Given the description of an element on the screen output the (x, y) to click on. 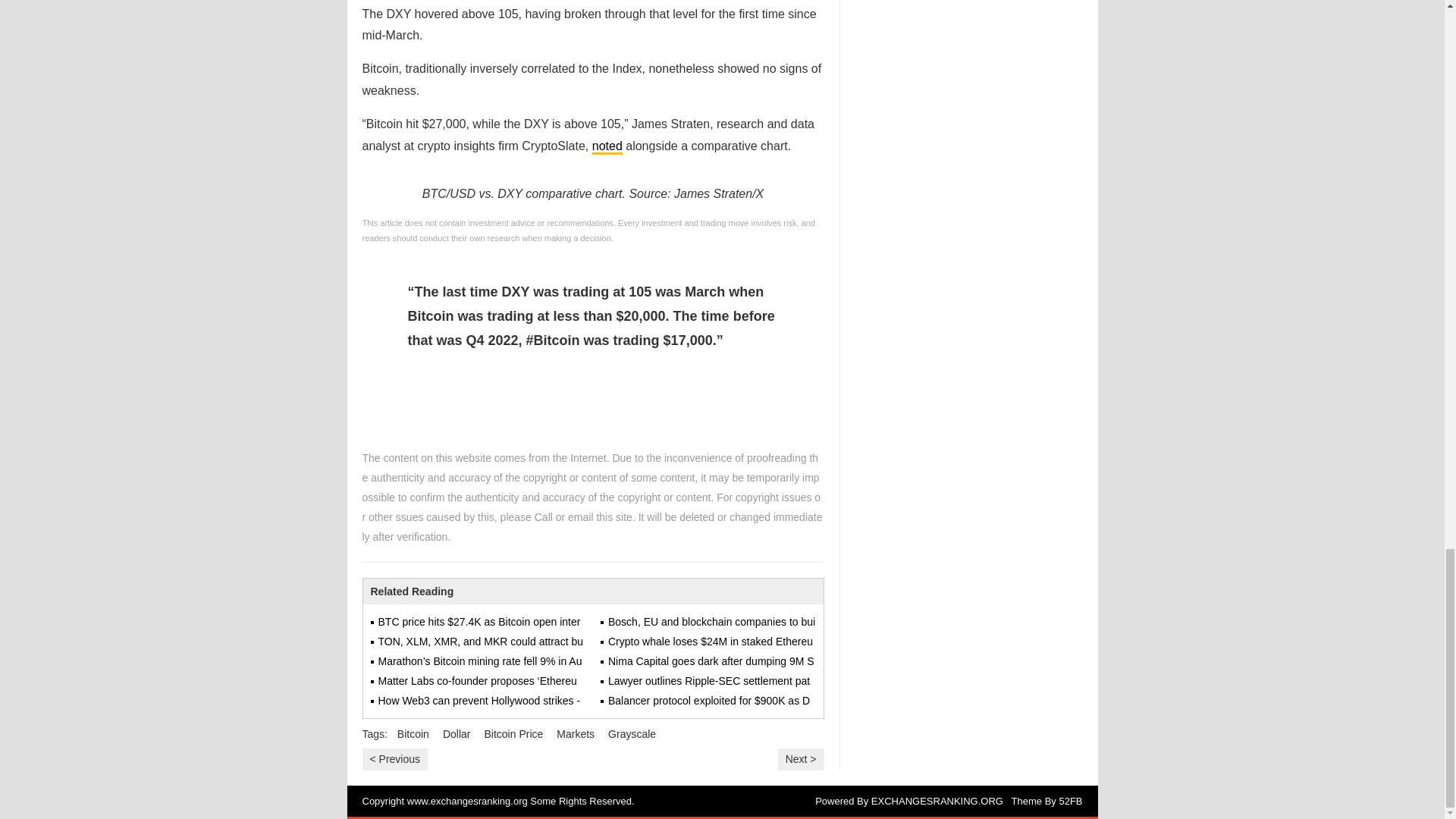
Bitcoin Price (513, 734)
Grayscale (632, 734)
Markets (574, 734)
noted (607, 146)
Dollar (456, 734)
Bitcoin (413, 734)
